Given the description of an element on the screen output the (x, y) to click on. 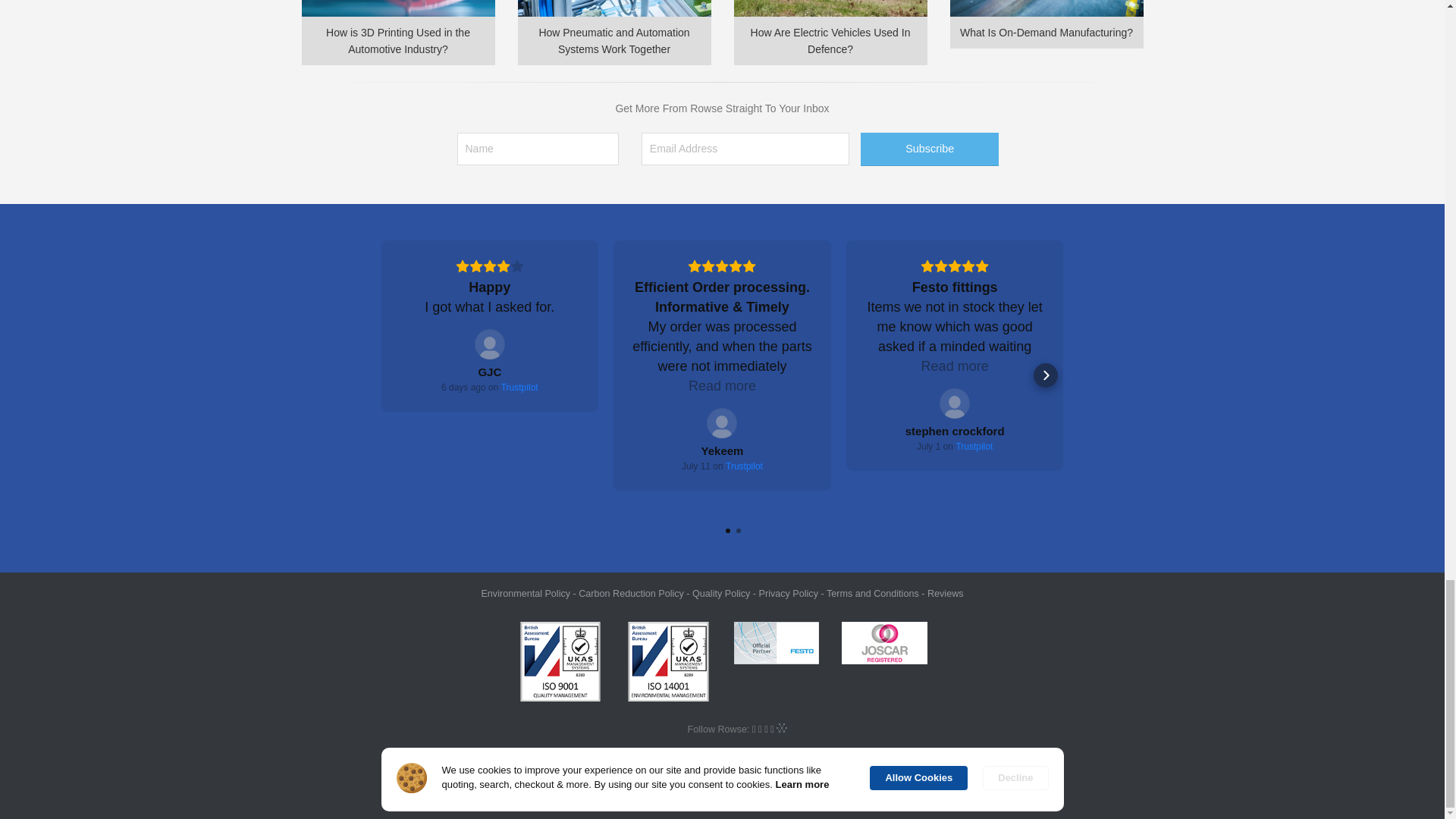
How Are Electric Vehicles Used In Defence? (830, 32)
How Pneumatic and Automation Systems Work Together (613, 32)
Subscribe (929, 149)
Carbon Reduction Policy (631, 593)
Environmental Policy (525, 593)
What Is On-Demand Manufacturing? (1045, 24)
How is 3D Printing Used in the Automotive Industry? (398, 32)
